Given the description of an element on the screen output the (x, y) to click on. 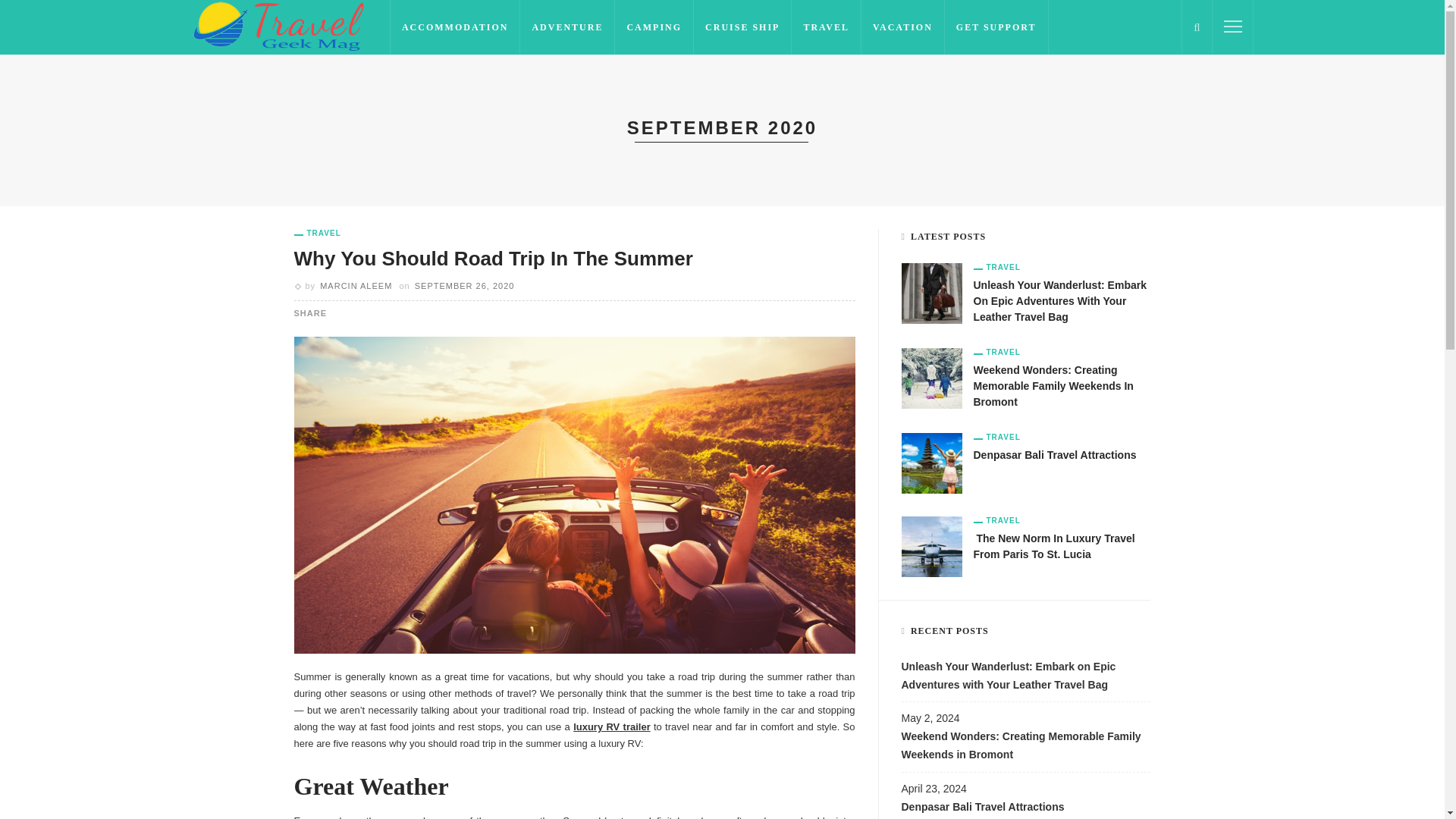
TRAVEL (997, 266)
CAMPING (654, 27)
Denpasar Bali Travel Attractions (930, 462)
ACCOMMODATION (454, 27)
TRAVEL (317, 233)
Denpasar Bali Travel Attractions (1055, 454)
luxury RV trailer (611, 726)
CRUISE SHIP (743, 27)
Travel (997, 266)
Why You Should Road Trip in the Summer (575, 493)
menu (1232, 26)
